Given the description of an element on the screen output the (x, y) to click on. 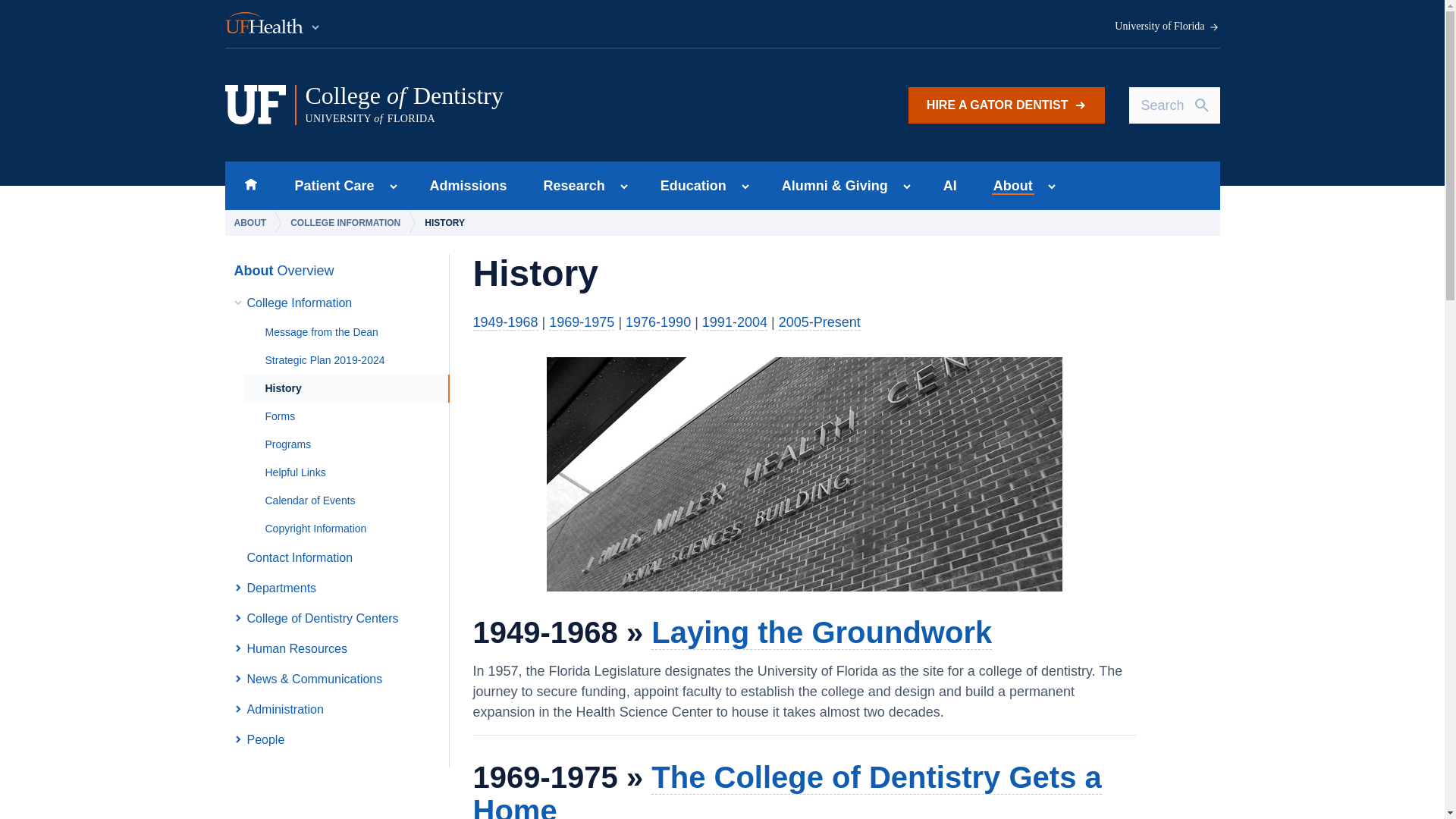
Home (250, 185)
Show submenu for Patient Care (392, 187)
HIRE A GATOR DENTIST (1006, 104)
Patient Care (515, 105)
UF Health (329, 185)
Skip to main content (272, 24)
University of Florida (468, 185)
Research (1167, 26)
Show submenu for Research (569, 185)
